Given the description of an element on the screen output the (x, y) to click on. 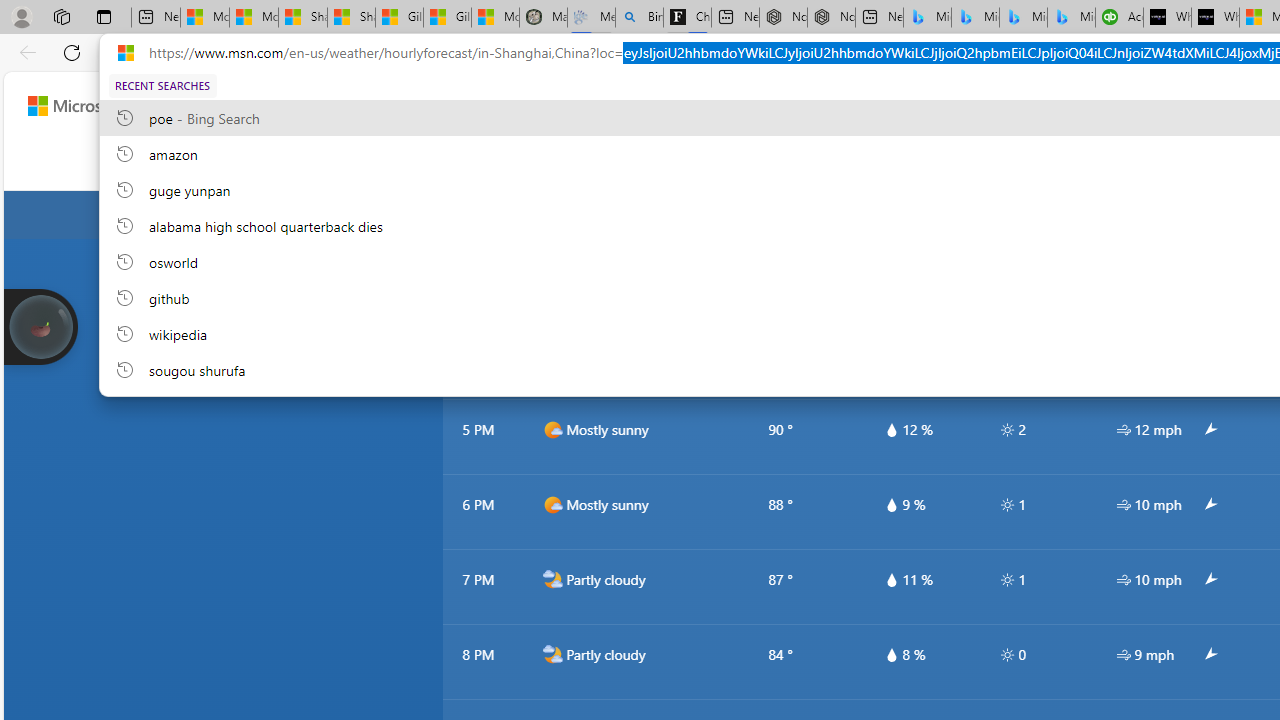
Microsoft Bing Travel - Shangri-La Hotel Bangkok (1071, 17)
d2000 (552, 354)
Severe Weather (929, 162)
Discover (353, 162)
Skip to content (86, 105)
Shanghai, China weather forecast | Microsoft Weather (351, 17)
locationBar/search (715, 215)
Microsoft Bing Travel - Stays in Bangkok, Bangkok, Thailand (975, 17)
Following (434, 162)
Accounting Software for Accountants, CPAs and Bookkeepers (1119, 17)
Search for location (560, 214)
